Given the description of an element on the screen output the (x, y) to click on. 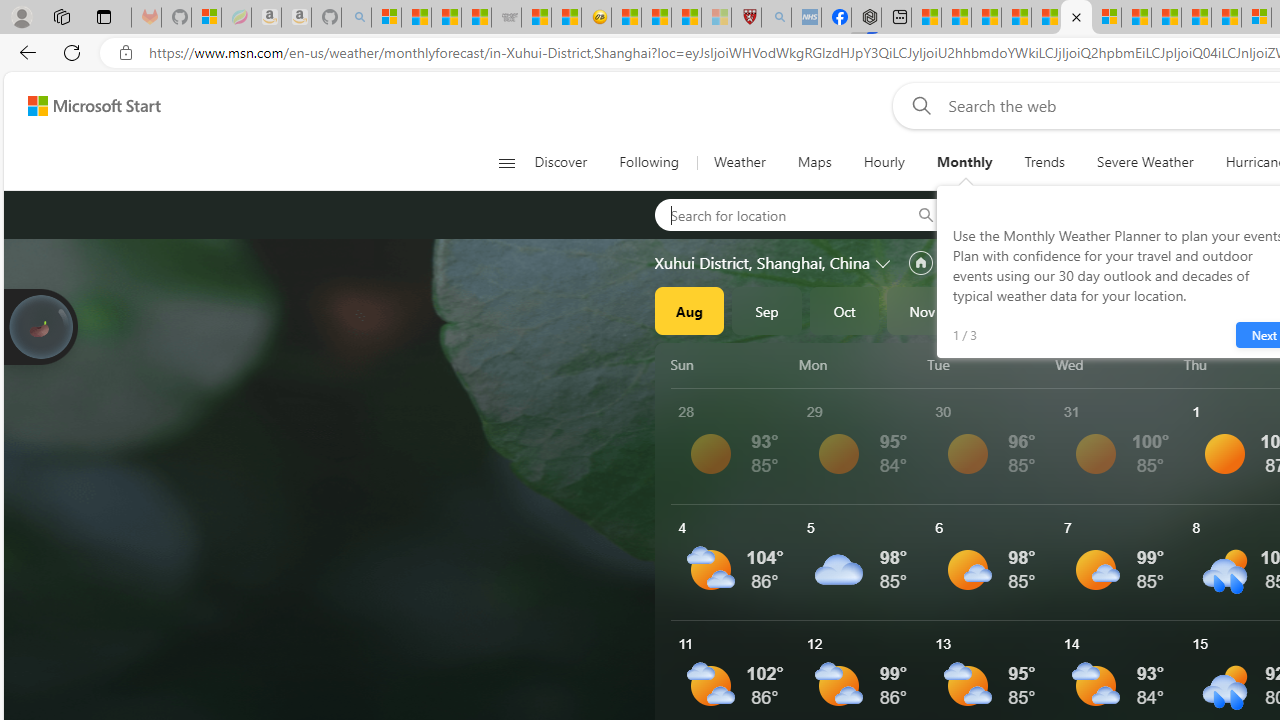
Oct (844, 310)
Severe Weather (1145, 162)
Maps (813, 162)
Hourly (884, 162)
Sep (767, 310)
Oct (844, 310)
Hourly (883, 162)
Monthly (964, 162)
